Given the description of an element on the screen output the (x, y) to click on. 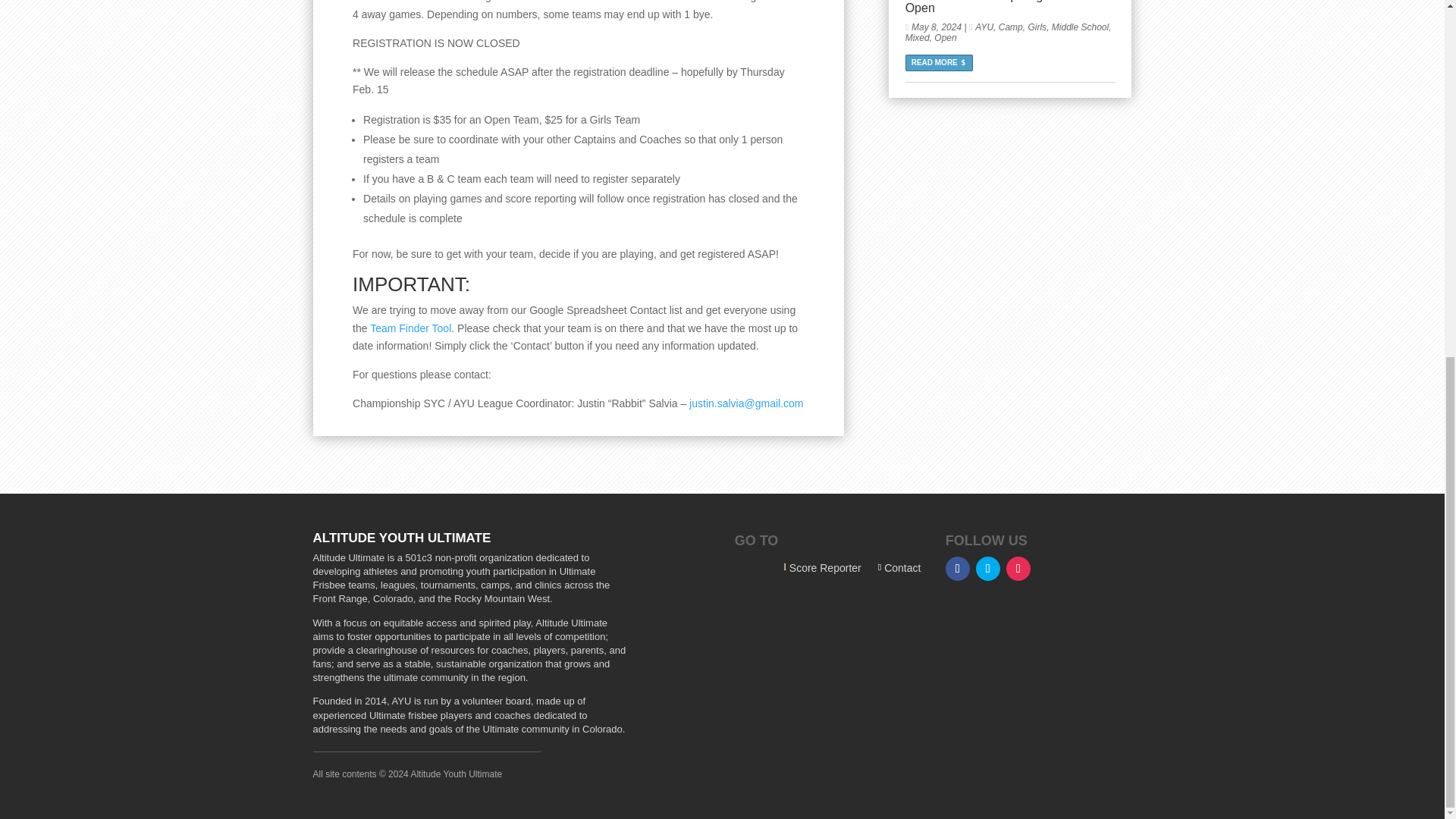
Follow on Instagram (1018, 568)
Follow on Twitter (987, 568)
Follow on Facebook (956, 568)
